Given the description of an element on the screen output the (x, y) to click on. 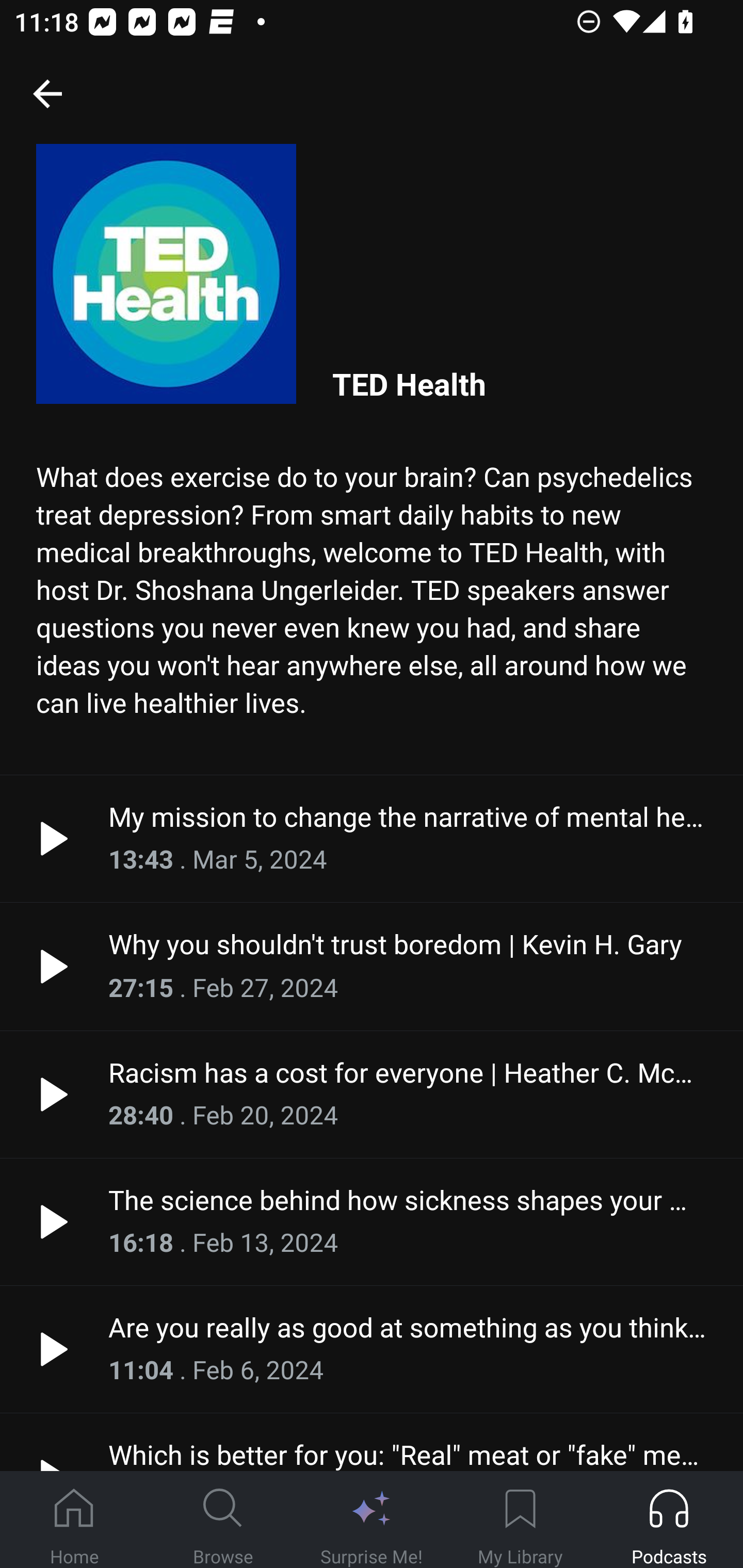
TED Podcasts, back (47, 92)
Home (74, 1520)
Browse (222, 1520)
Surprise Me! (371, 1520)
My Library (519, 1520)
Podcasts (668, 1520)
